Given the description of an element on the screen output the (x, y) to click on. 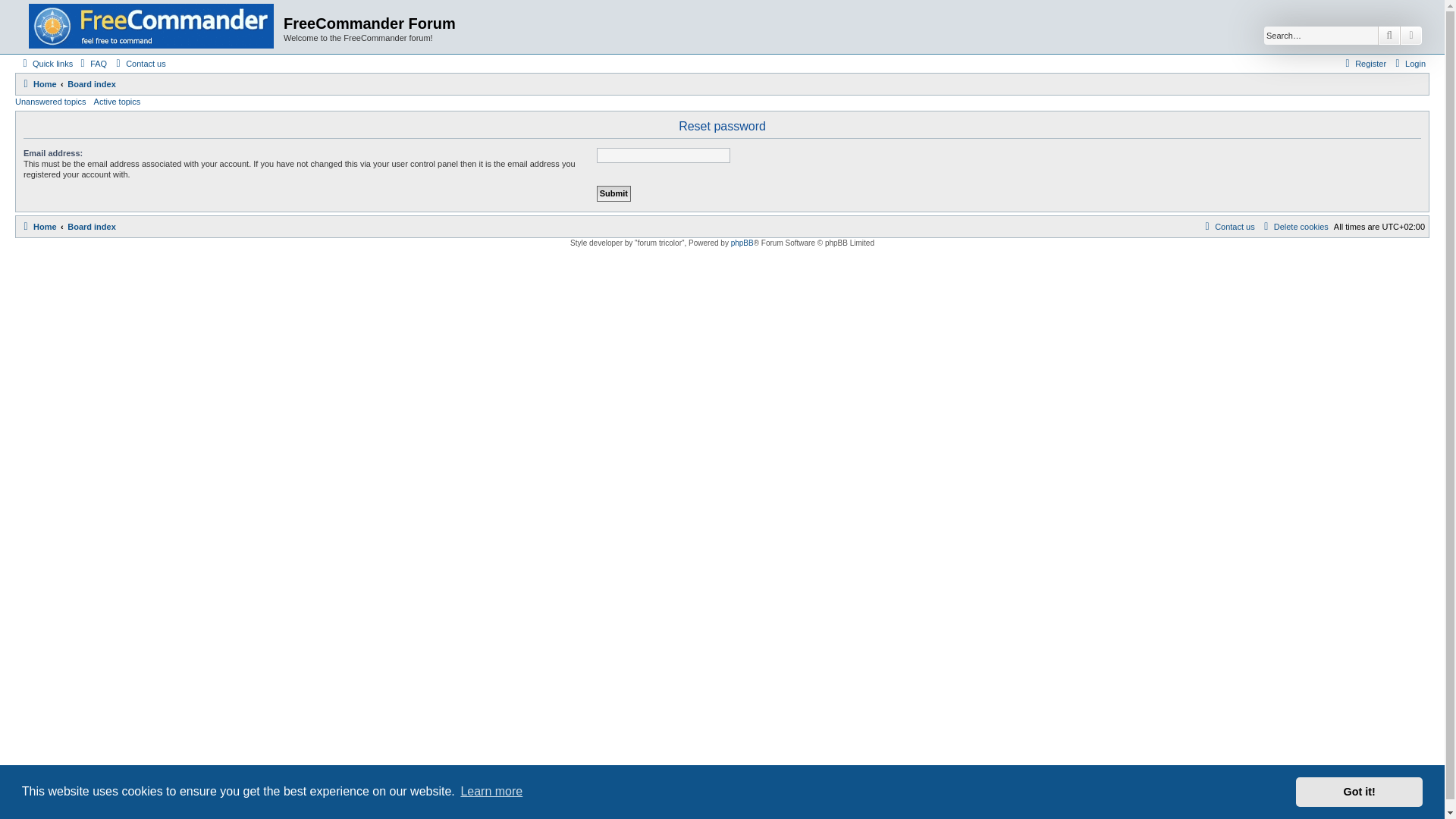
Unanswered topics (49, 101)
Active topics (117, 101)
Home (150, 26)
Submit (613, 193)
Board index (91, 84)
Search for keywords (1320, 35)
Contact us (138, 63)
Login (1408, 63)
FAQ (91, 63)
Board index (91, 226)
Submit (613, 193)
Board index (91, 226)
Frequently Asked Questions (91, 63)
Delete cookies (1293, 226)
Home (38, 226)
